Given the description of an element on the screen output the (x, y) to click on. 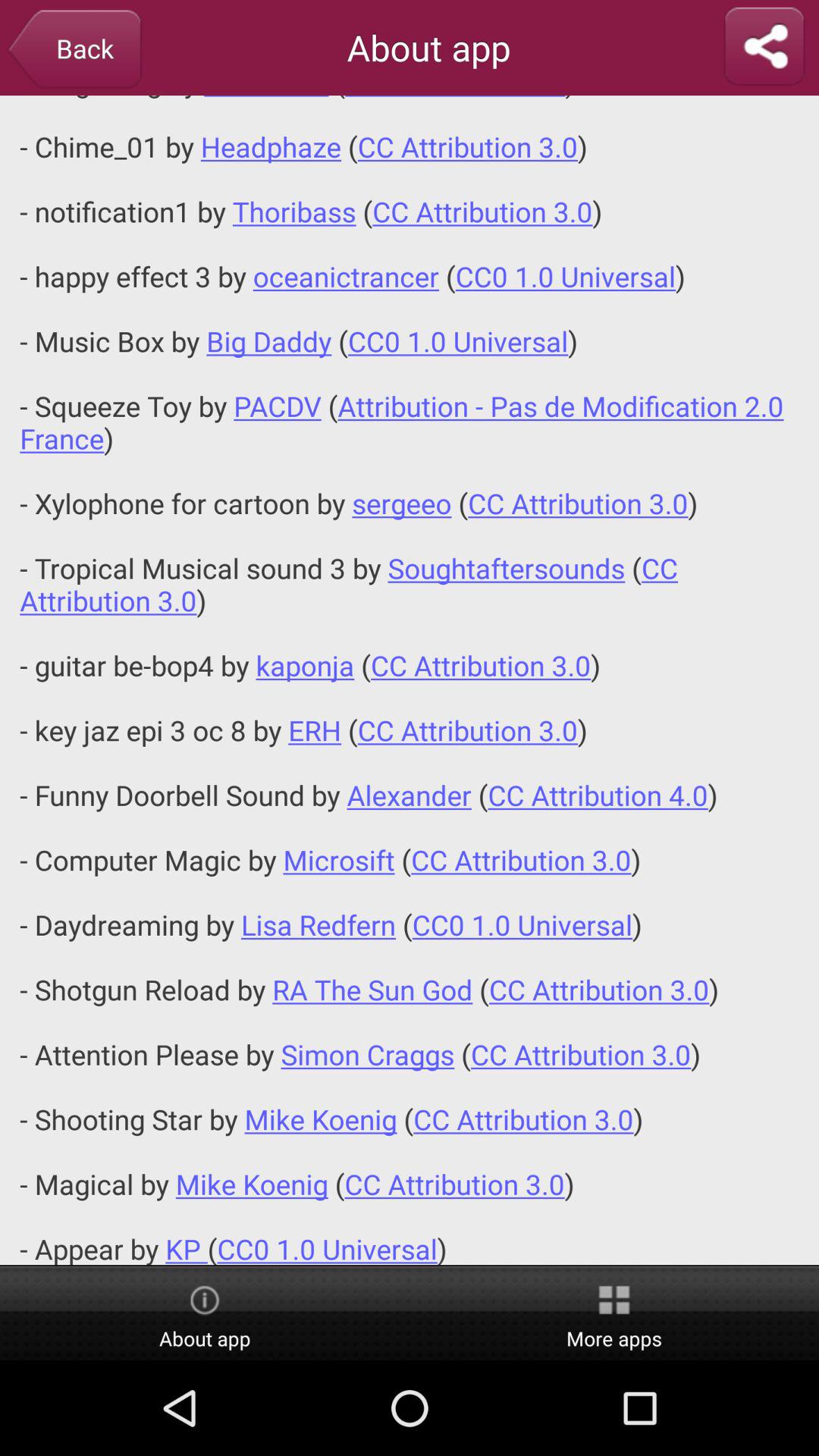
swipe to desk bell sound (409, 679)
